Given the description of an element on the screen output the (x, y) to click on. 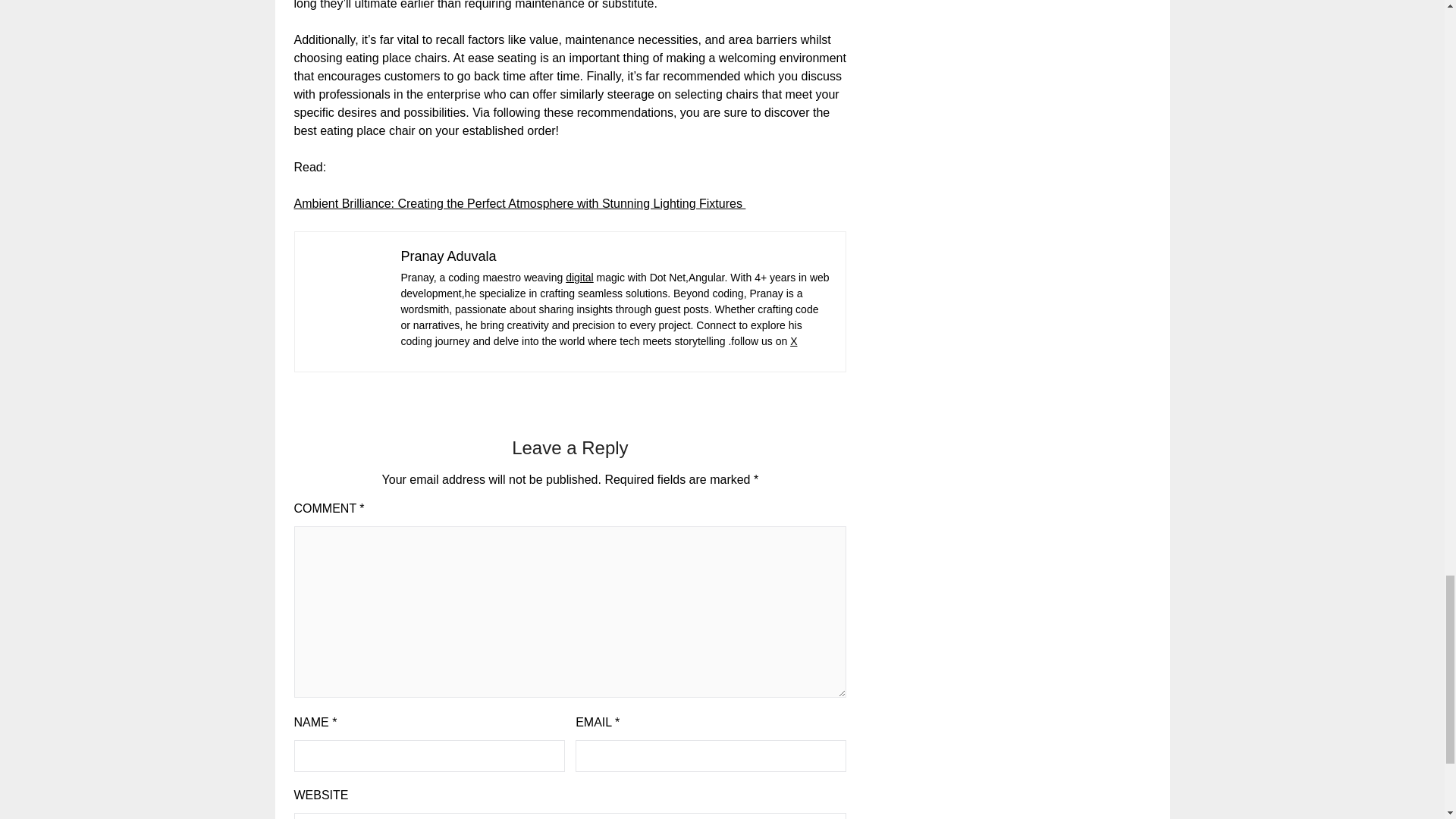
Pranay Aduvala (448, 255)
digital (580, 277)
